Given the description of an element on the screen output the (x, y) to click on. 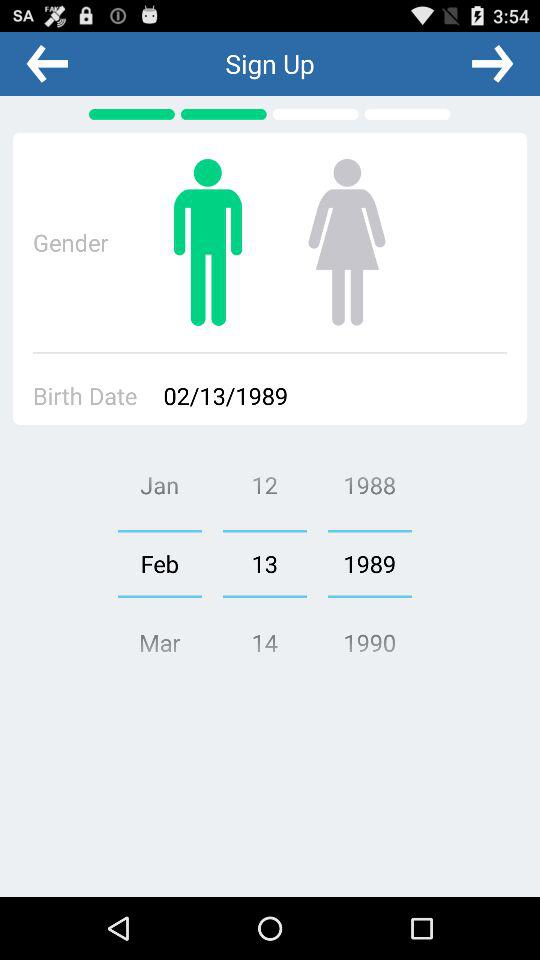
press item next to the sign up (47, 63)
